Given the description of an element on the screen output the (x, y) to click on. 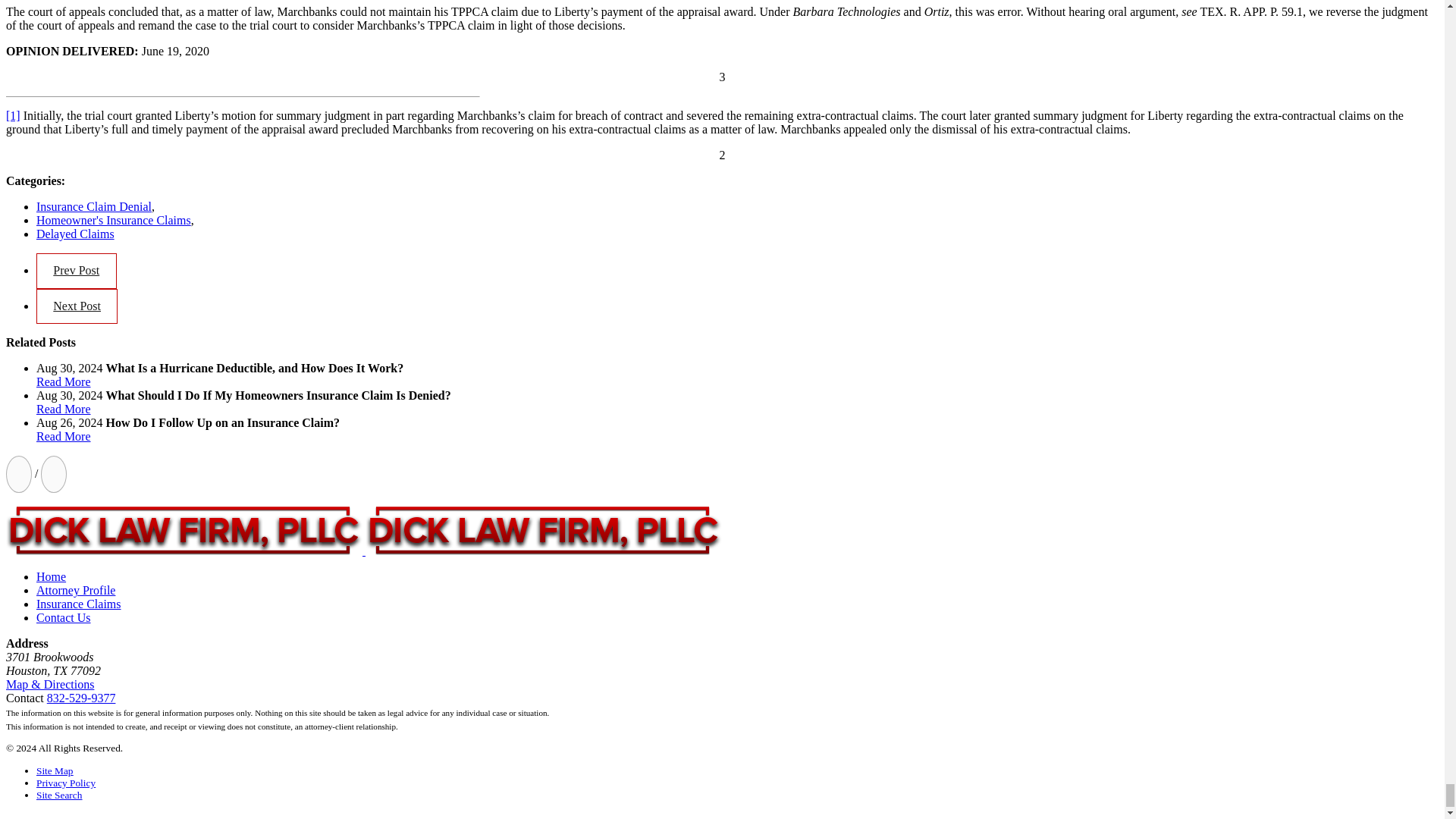
Dick Law Firm, PLLC (543, 530)
Home (363, 550)
Dick Law Firm, PLLC (183, 530)
